Given the description of an element on the screen output the (x, y) to click on. 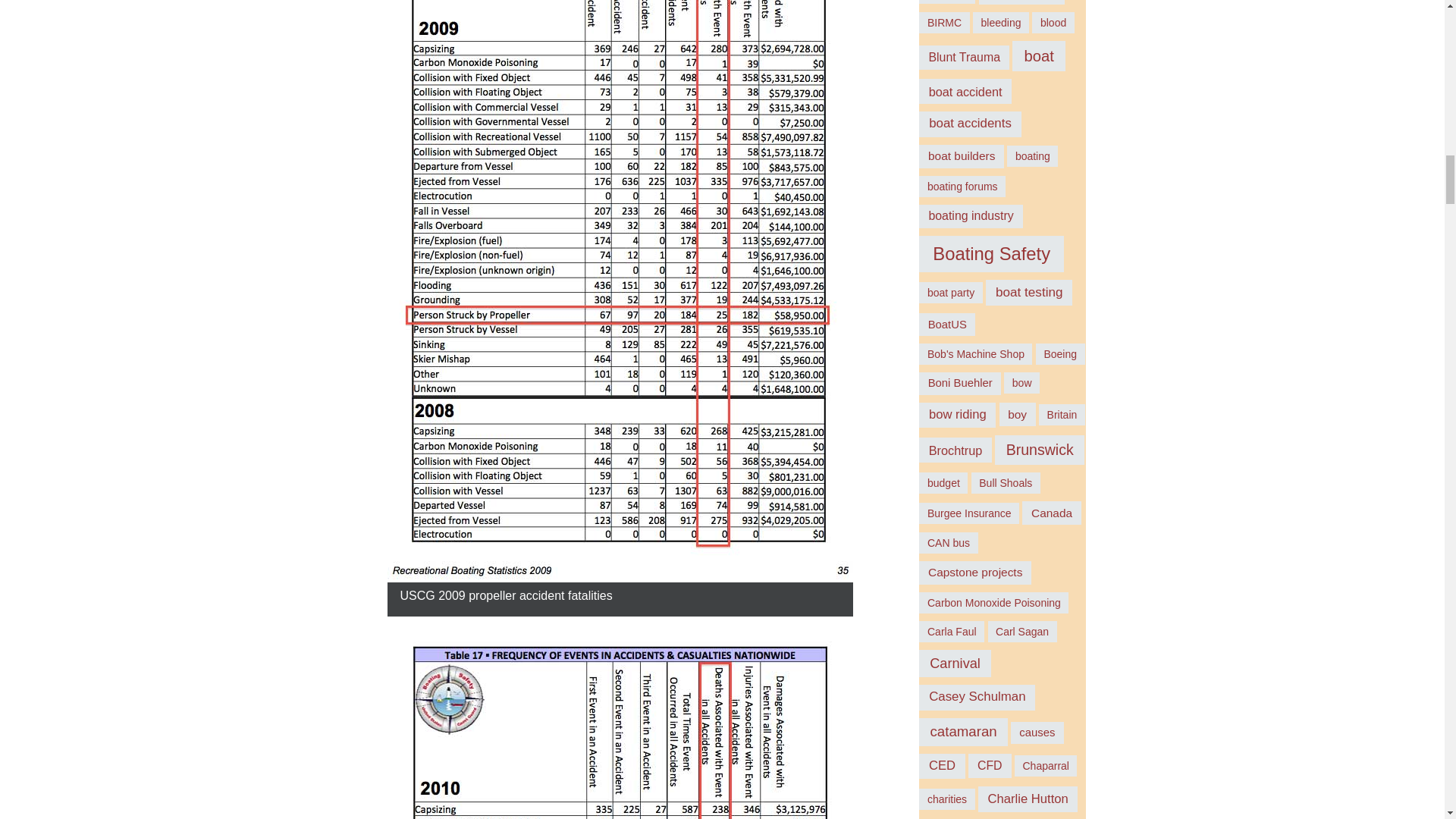
USCG 2010 propeller accident fatalities (619, 726)
